Given the description of an element on the screen output the (x, y) to click on. 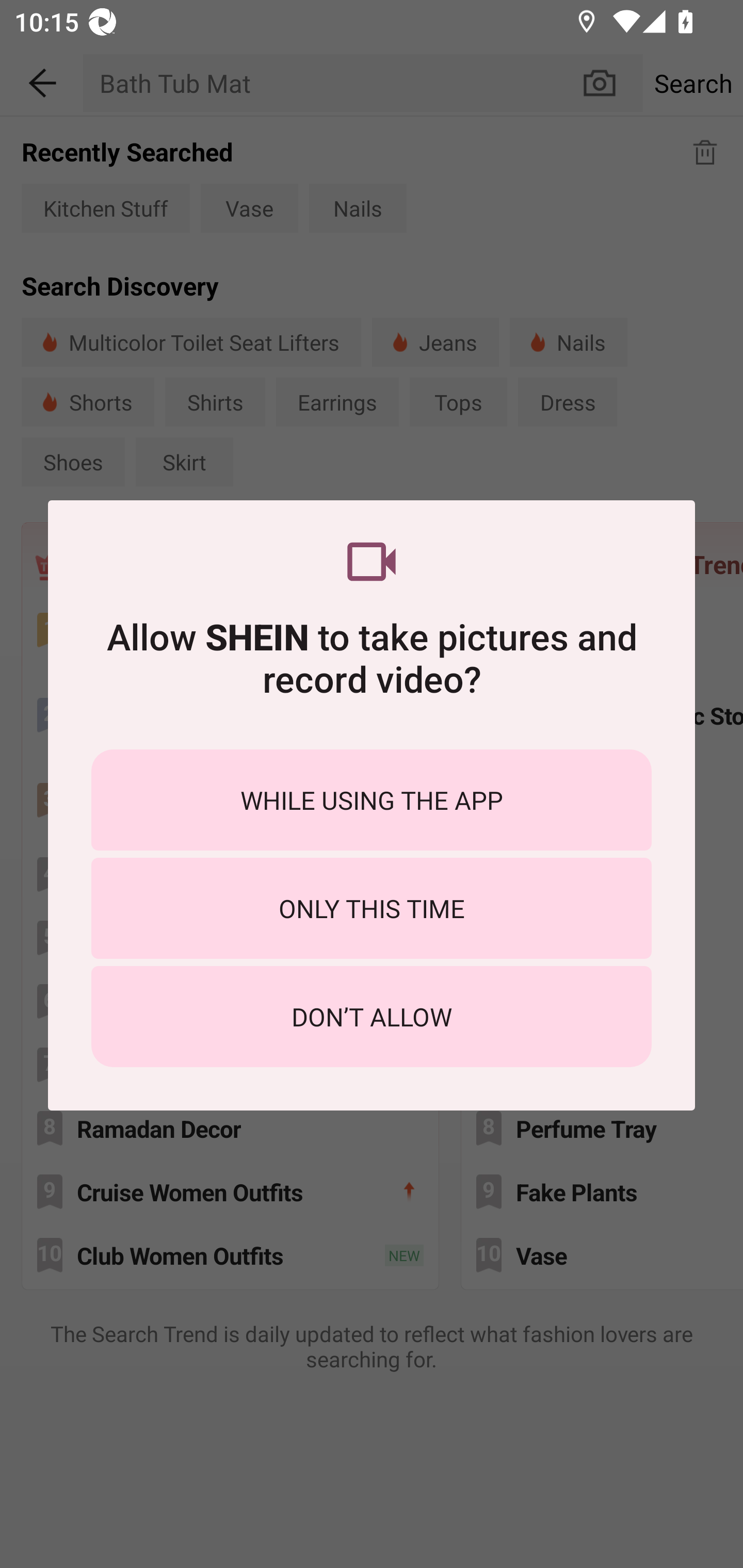
WHILE USING THE APP (371, 799)
ONLY THIS TIME (371, 908)
DON’T ALLOW (371, 1016)
